Given the description of an element on the screen output the (x, y) to click on. 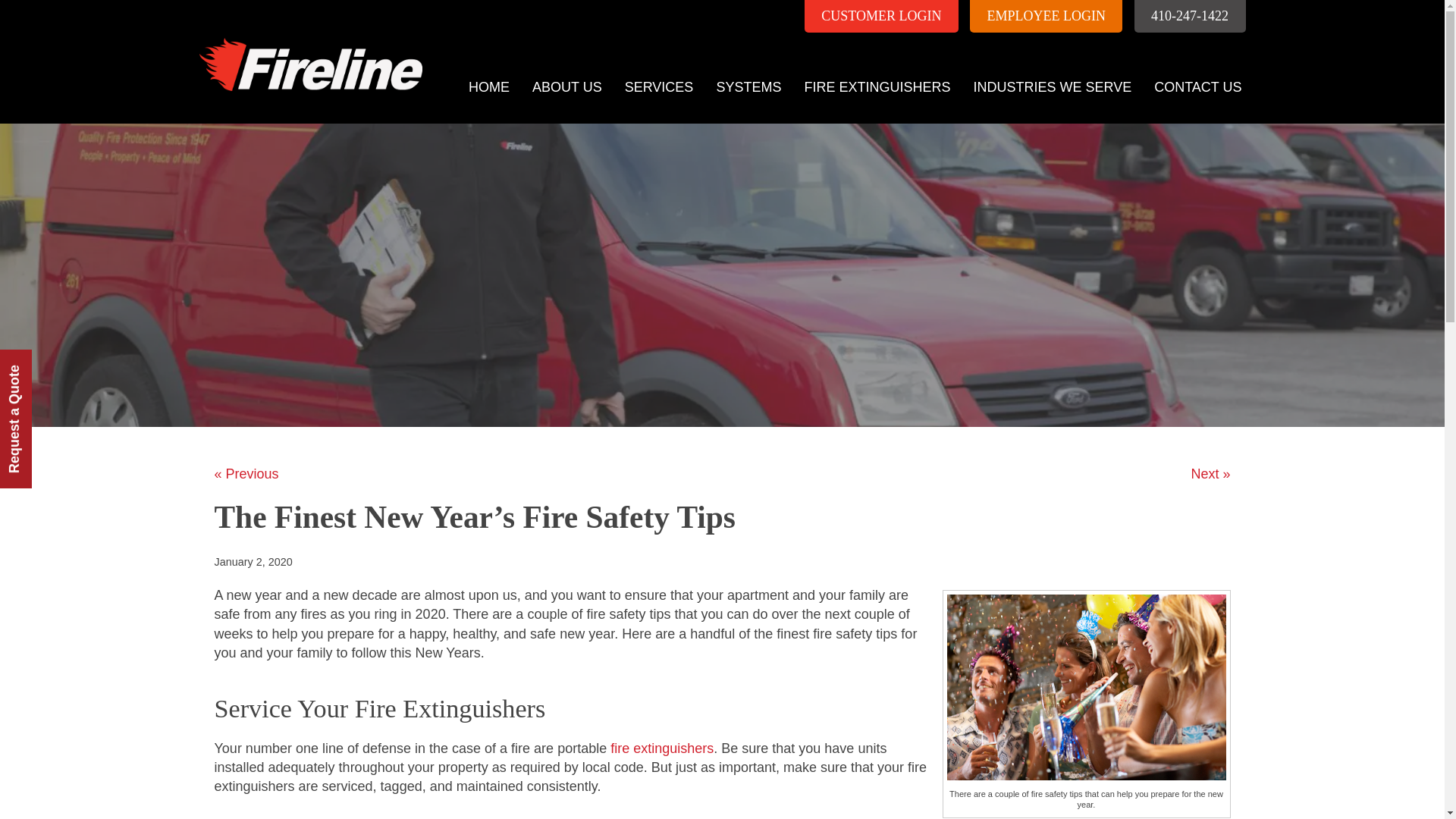
INDUSTRIES WE SERVE (1051, 87)
SYSTEMS (748, 87)
FIRE EXTINGUISHERS (876, 87)
Fireline (306, 45)
410-247-1422 (1190, 16)
CUSTOMER LOGIN (881, 16)
ABOUT US (566, 87)
EMPLOYEE LOGIN (1045, 16)
SERVICES (658, 87)
